Given the description of an element on the screen output the (x, y) to click on. 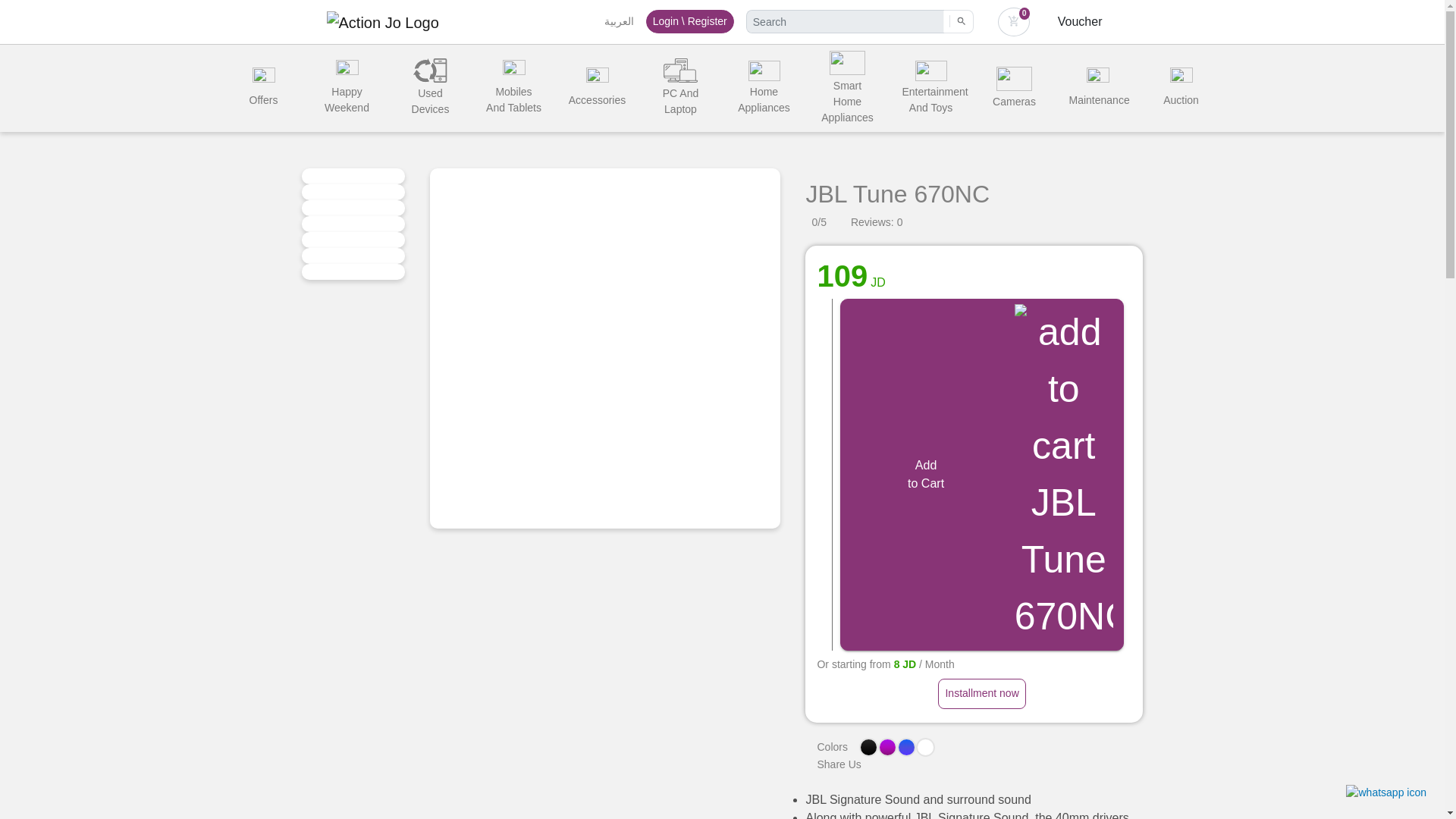
Used Devices (429, 87)
Auction (1179, 87)
Voucher (1080, 21)
Cameras (1013, 88)
Offers (262, 87)
Happy Weekend (346, 88)
PC And Laptop (680, 87)
Mobiles And Tablets (512, 88)
Maintenance (1096, 87)
Accessories (595, 87)
Home Appliances (763, 88)
Entertainment And Toys (930, 88)
